Given the description of an element on the screen output the (x, y) to click on. 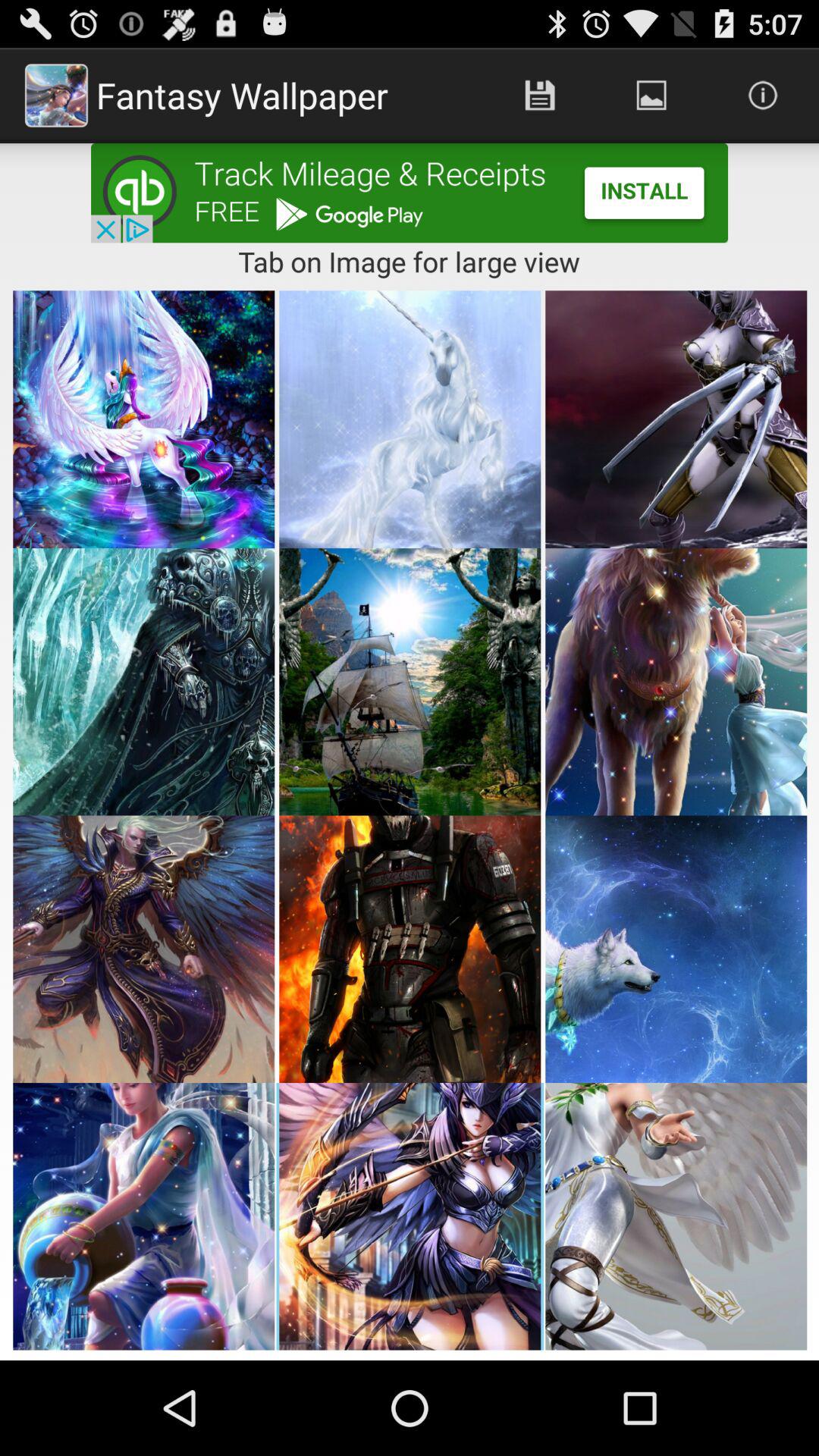
click on 12th image from top (675, 1217)
select the third row last image (675, 949)
click on second row third image (675, 681)
click on 8th image from the top (409, 949)
click on the third image in the first row (675, 418)
click on the info icon on top right (763, 95)
choose the second row of second image (409, 681)
click the icon right to fantasy wallpaper (540, 95)
choose the last row second image at the bottom (409, 1217)
